Given the description of an element on the screen output the (x, y) to click on. 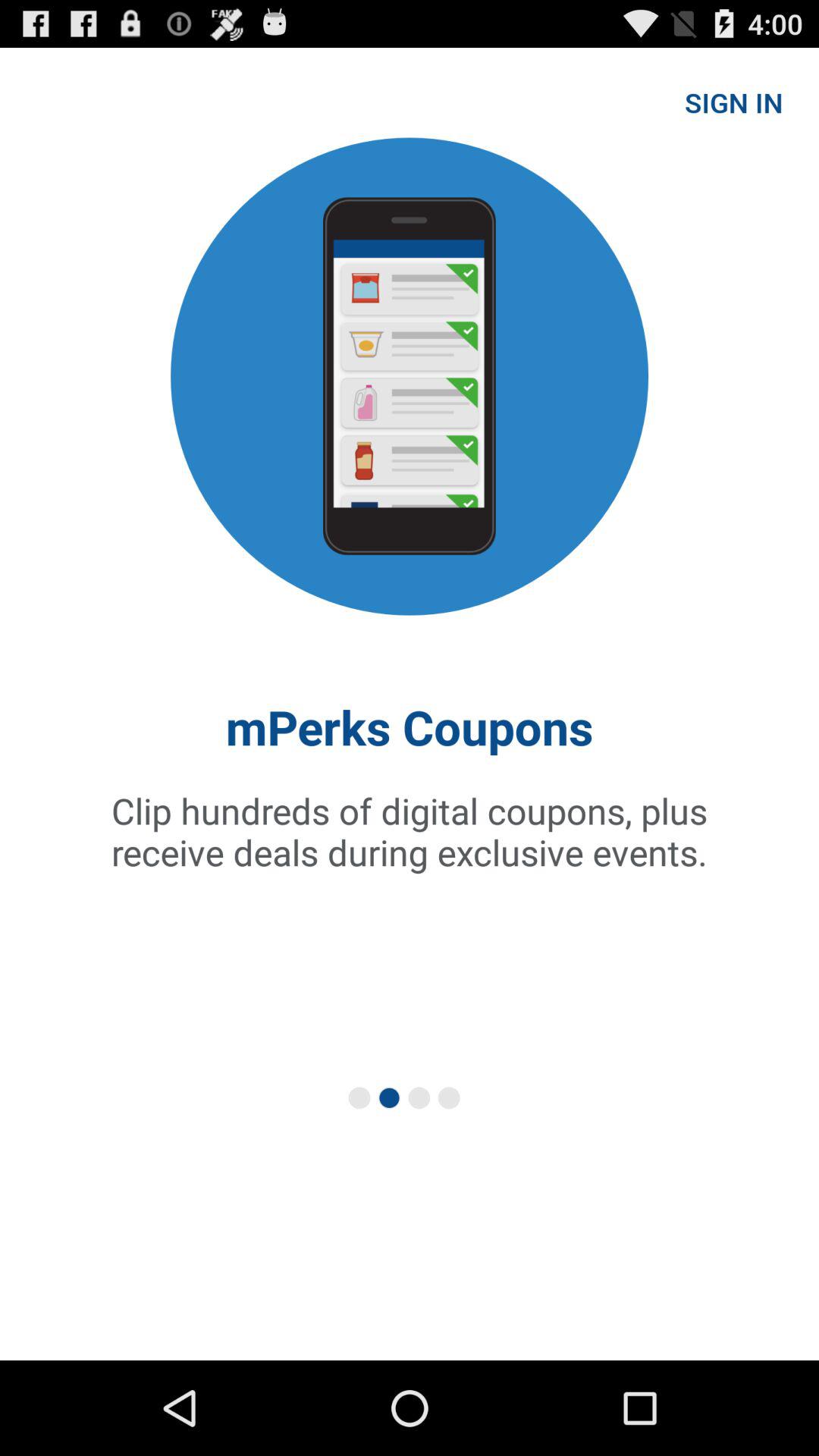
flip until the sign in icon (733, 101)
